Given the description of an element on the screen output the (x, y) to click on. 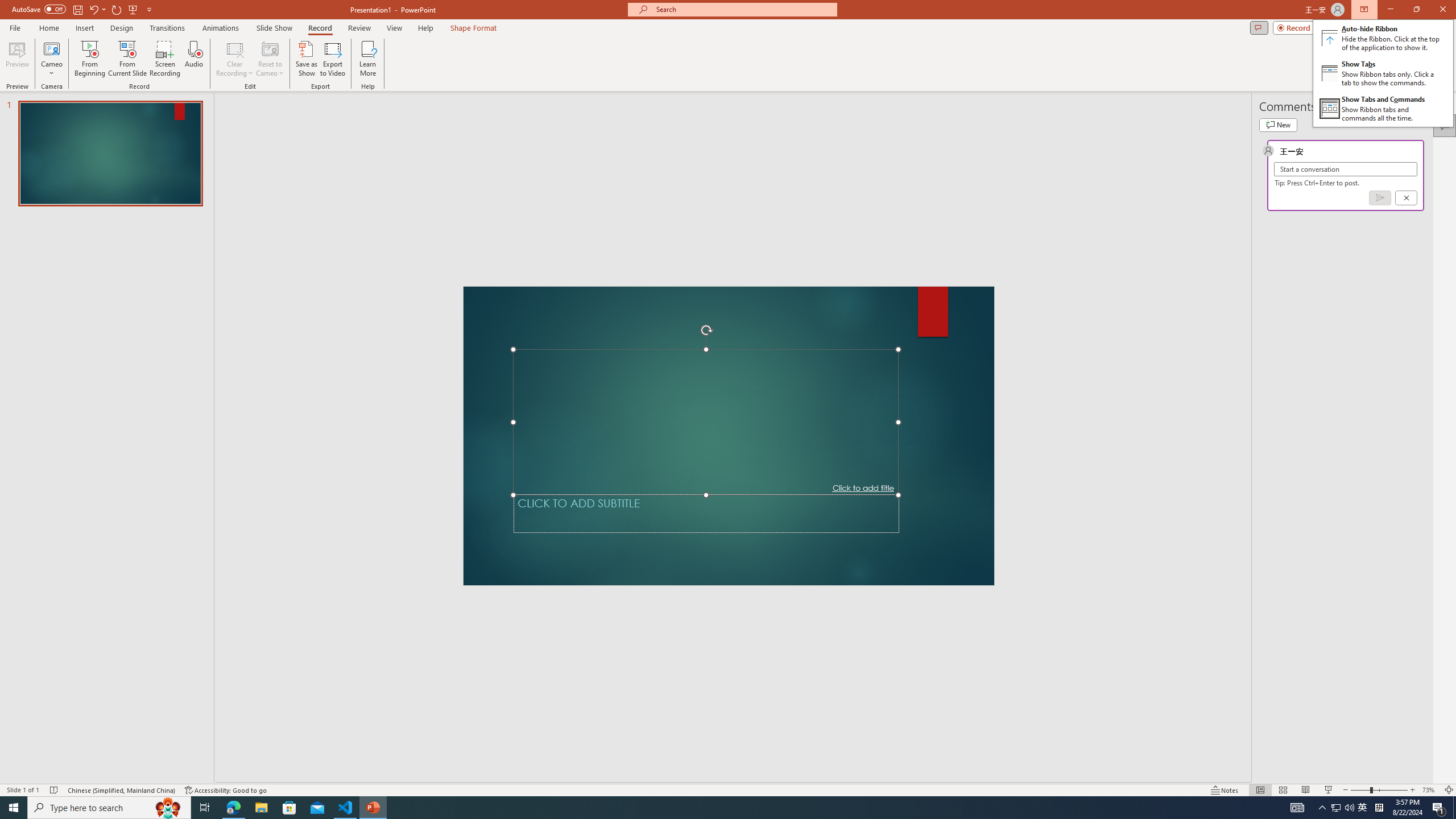
Comments (1259, 27)
Slide Sorter (1282, 790)
System (6, 6)
Minimize (1390, 9)
View (395, 28)
Zoom to Fit  (1449, 790)
Help (425, 28)
Slide Show (1328, 790)
Subtitle TextBox (706, 513)
System (6, 6)
Quick Access Toolbar (82, 9)
Task View (204, 807)
Spell Check No Errors (54, 790)
Notes  (1225, 790)
